Given the description of an element on the screen output the (x, y) to click on. 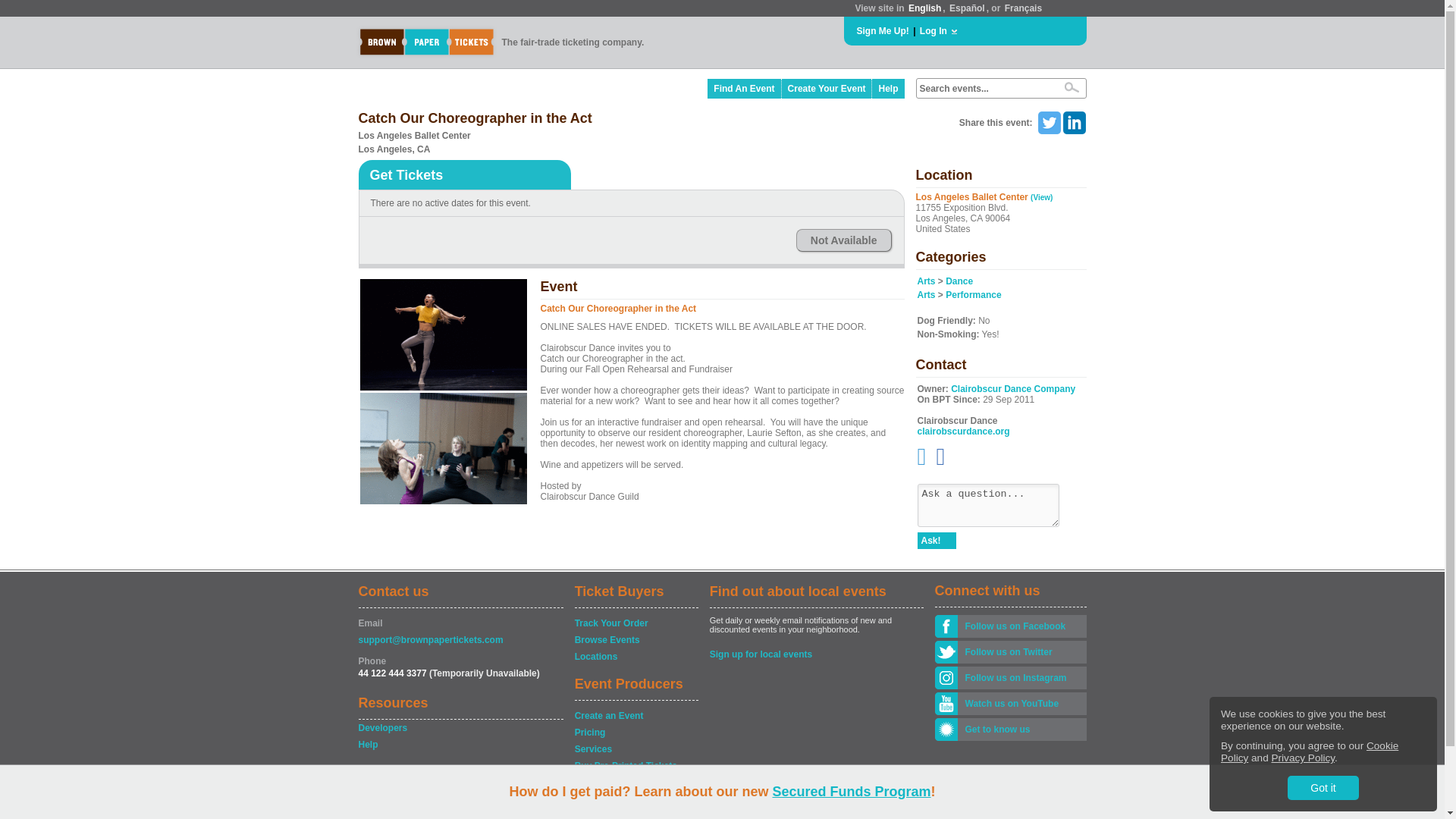
Help (460, 744)
Search events... (984, 88)
Submit to Twitter! (1048, 122)
Ask! (936, 540)
Developers (460, 727)
clairobscurdance.org (963, 430)
Pricing (636, 732)
Browse Events (636, 639)
Secured Funds Program (850, 791)
Track Your Order (636, 622)
